Given the description of an element on the screen output the (x, y) to click on. 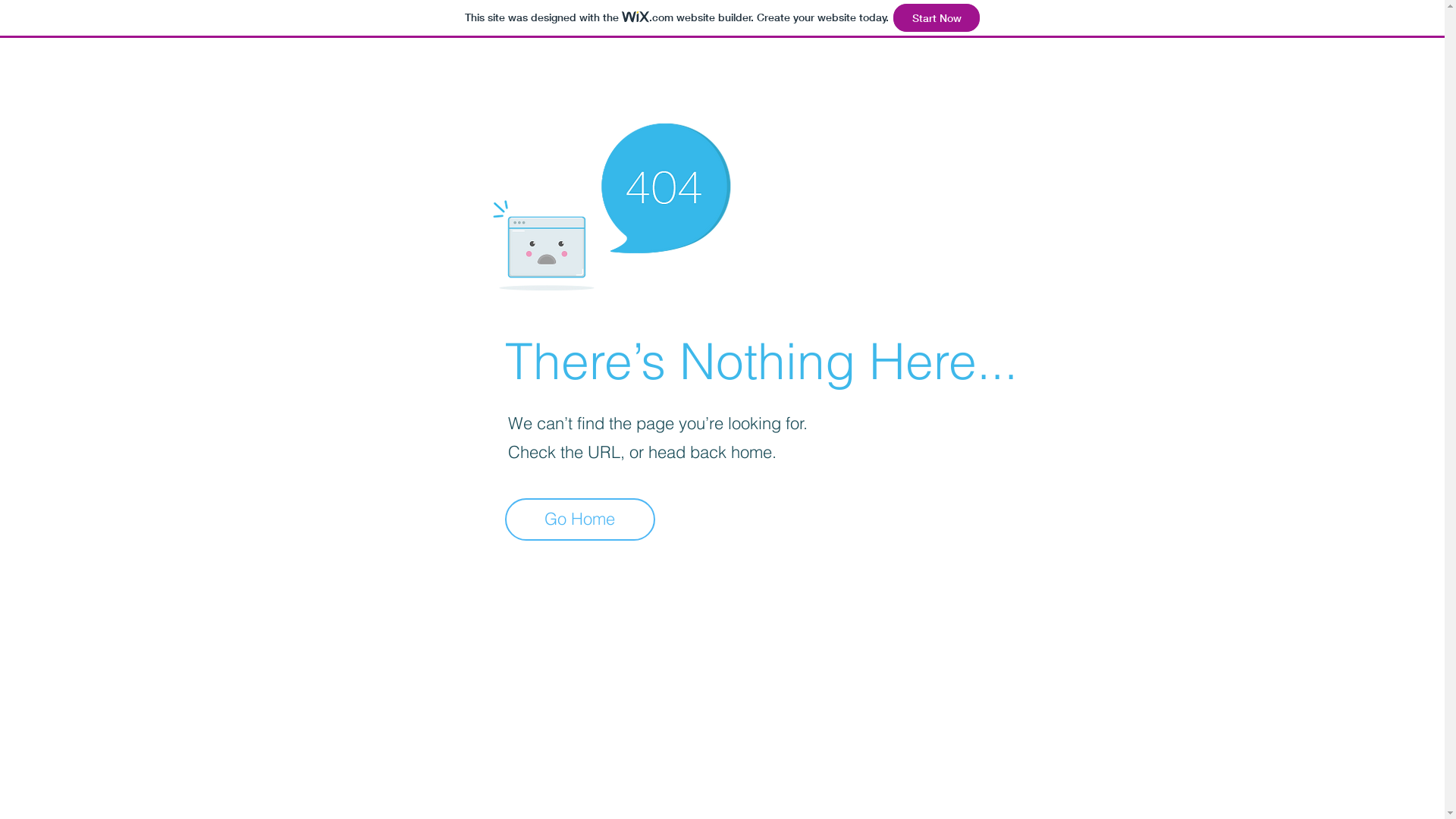
Go Home Element type: text (580, 519)
404-icon_2.png Element type: hover (610, 202)
